Given the description of an element on the screen output the (x, y) to click on. 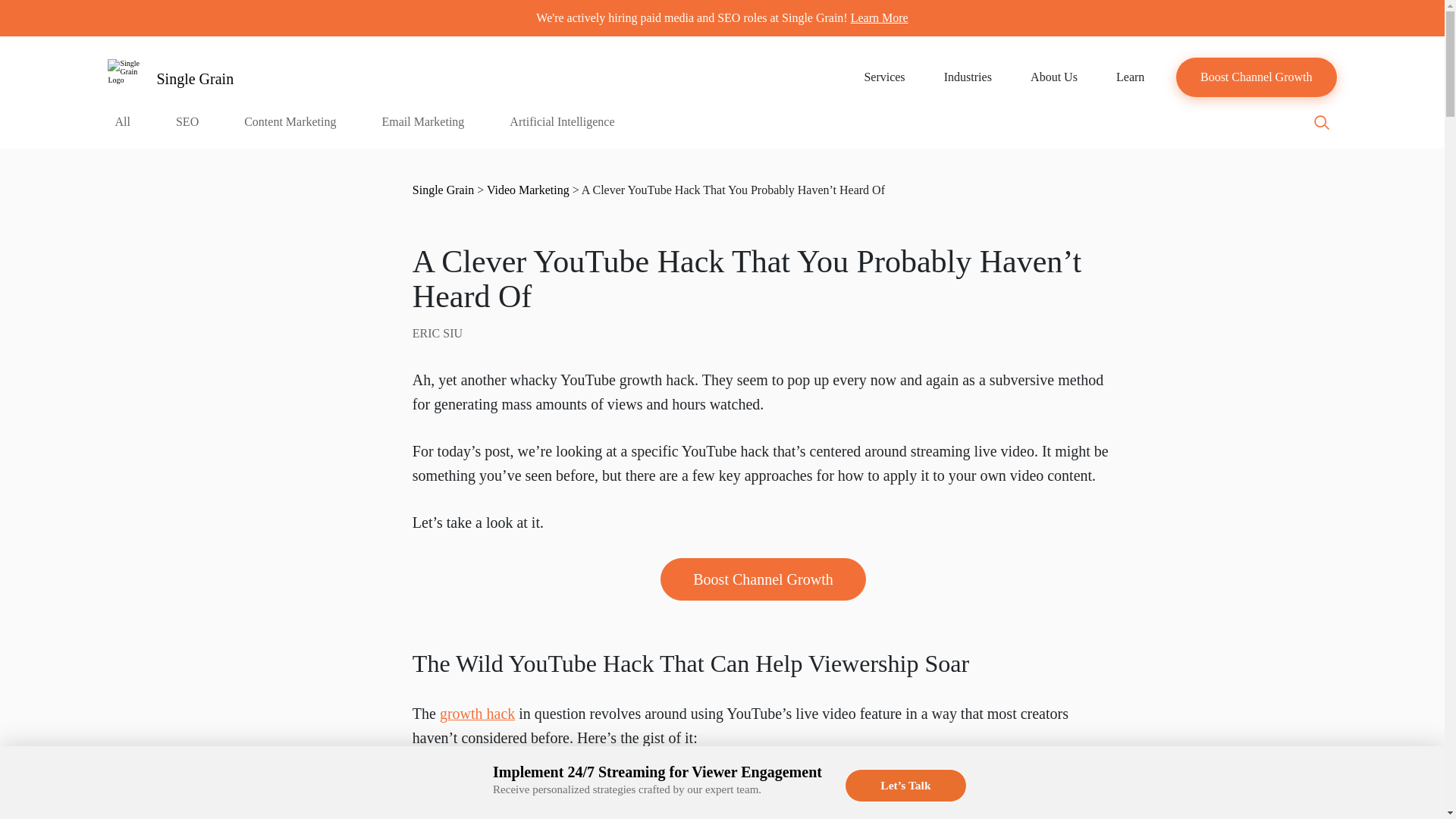
Services (884, 77)
Boost Channel Growth (1256, 77)
Services (884, 77)
Industries (967, 77)
Industries (967, 77)
Single Grain (169, 76)
About Us (1053, 77)
Learn (1129, 77)
About Us (1053, 77)
Content Marketing (290, 130)
